Given the description of an element on the screen output the (x, y) to click on. 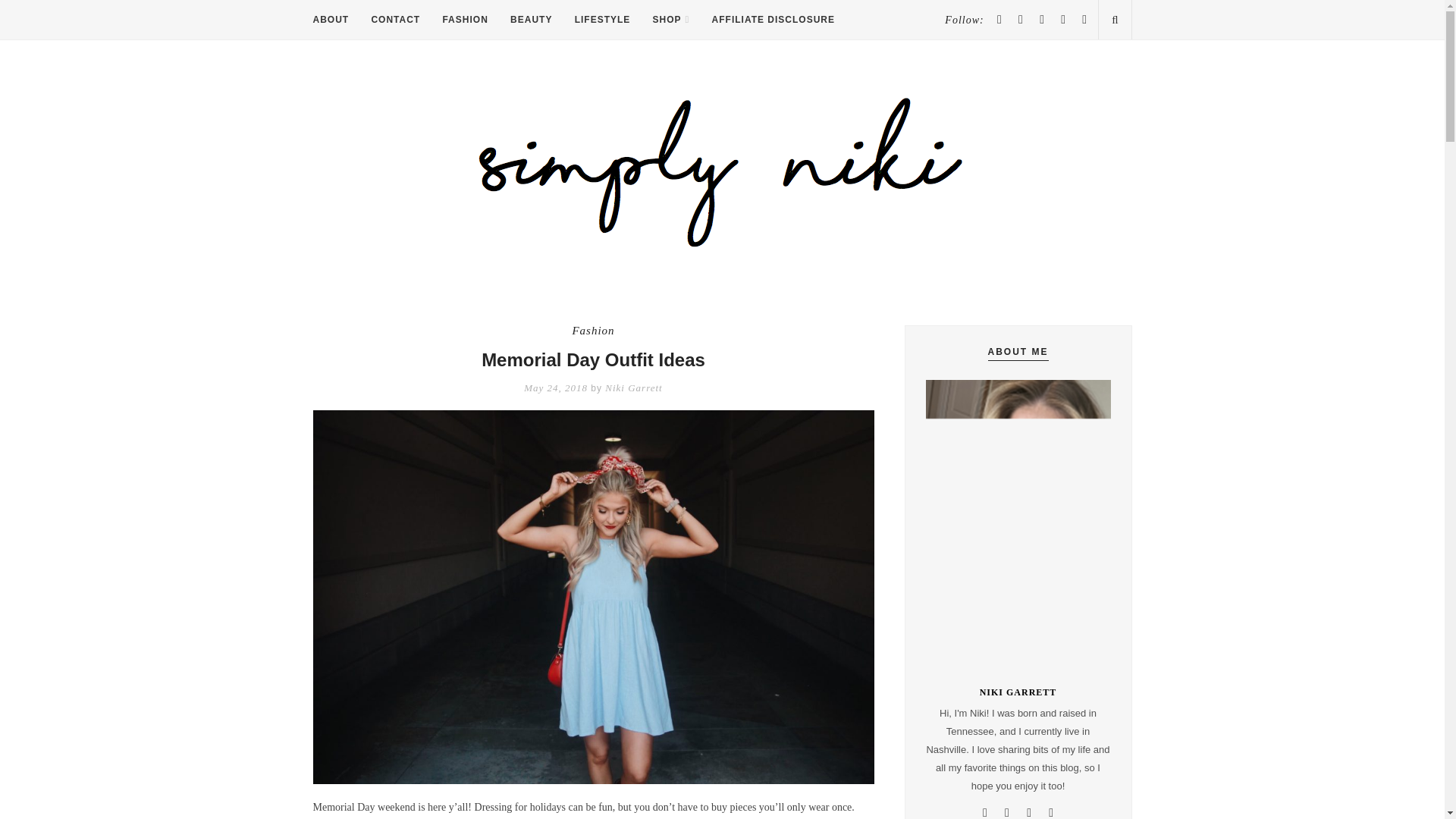
Niki Garrett (633, 387)
AFFILIATE DISCLOSURE (772, 19)
Posts by Niki Garrett (633, 387)
ABOUT (331, 19)
SHOP (671, 19)
BEAUTY (531, 19)
LIFESTYLE (602, 19)
Fashion (593, 330)
FASHION (464, 19)
CONTACT (395, 19)
